Given the description of an element on the screen output the (x, y) to click on. 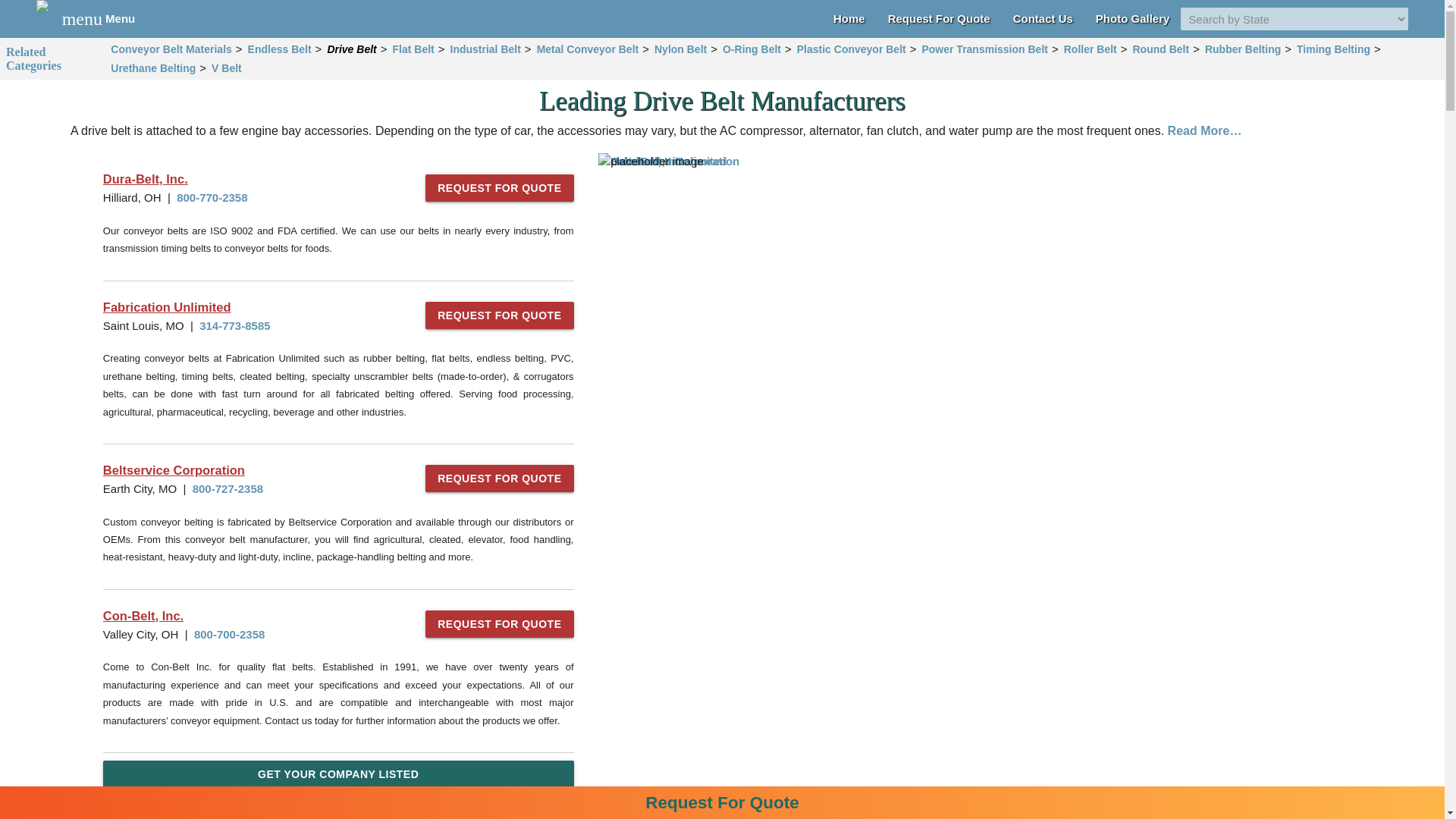
Photo Gallery (1132, 18)
Contact Us (1042, 18)
Home (849, 18)
Conveyor Belt Materials (170, 48)
site preview (98, 18)
Request For Quote (969, 161)
